Given the description of an element on the screen output the (x, y) to click on. 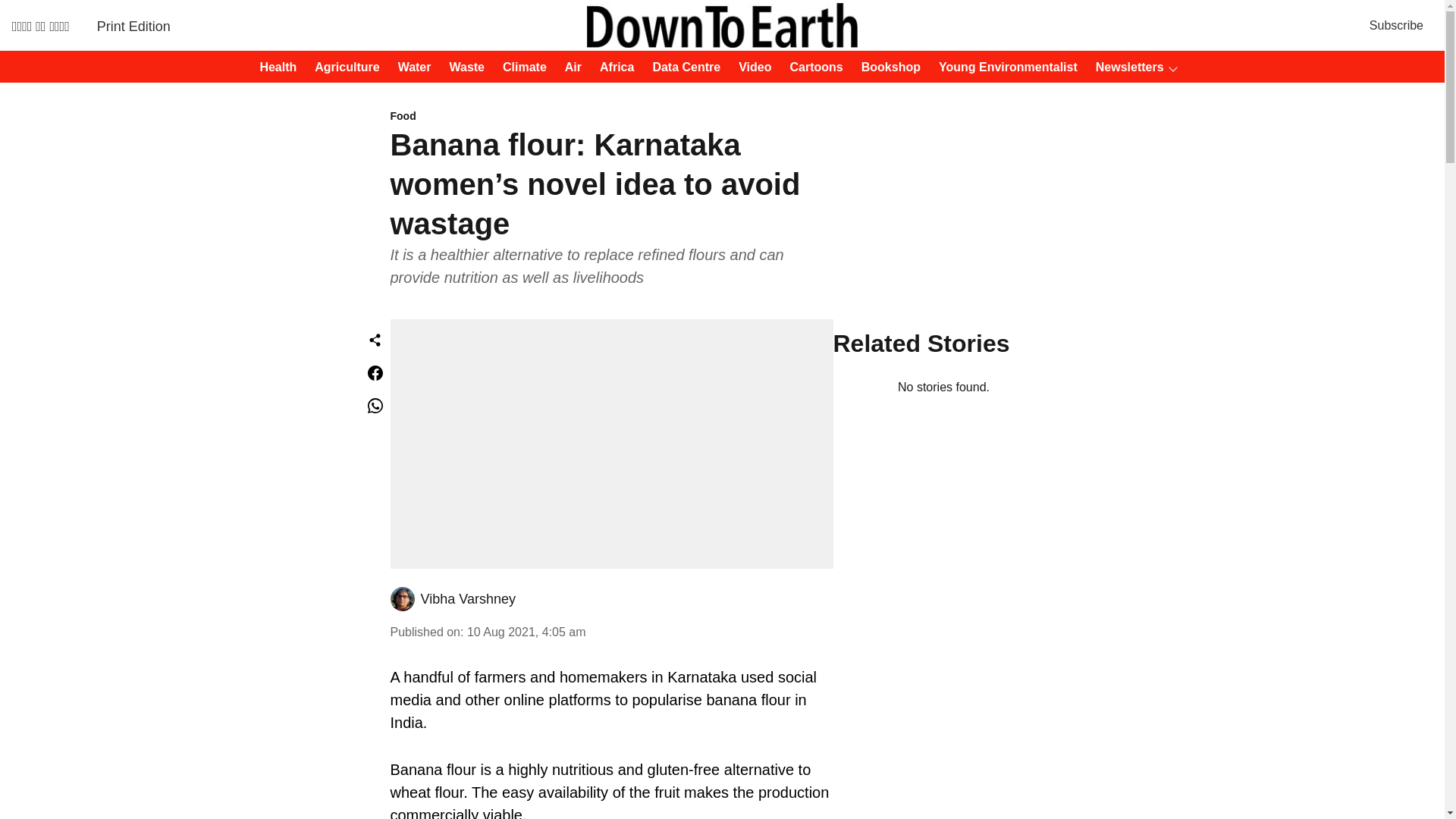
Bookshop (885, 67)
Data Centre (681, 67)
Video (750, 67)
Africa (612, 67)
Waste (461, 67)
Cartoons (811, 67)
Young Environmentalist (1003, 67)
Health (273, 67)
Print Edition (133, 26)
Climate (520, 67)
Food (611, 116)
Vibha Varshney (467, 598)
Water (409, 67)
2021-08-10 04:05 (526, 631)
Agriculture (341, 67)
